Given the description of an element on the screen output the (x, y) to click on. 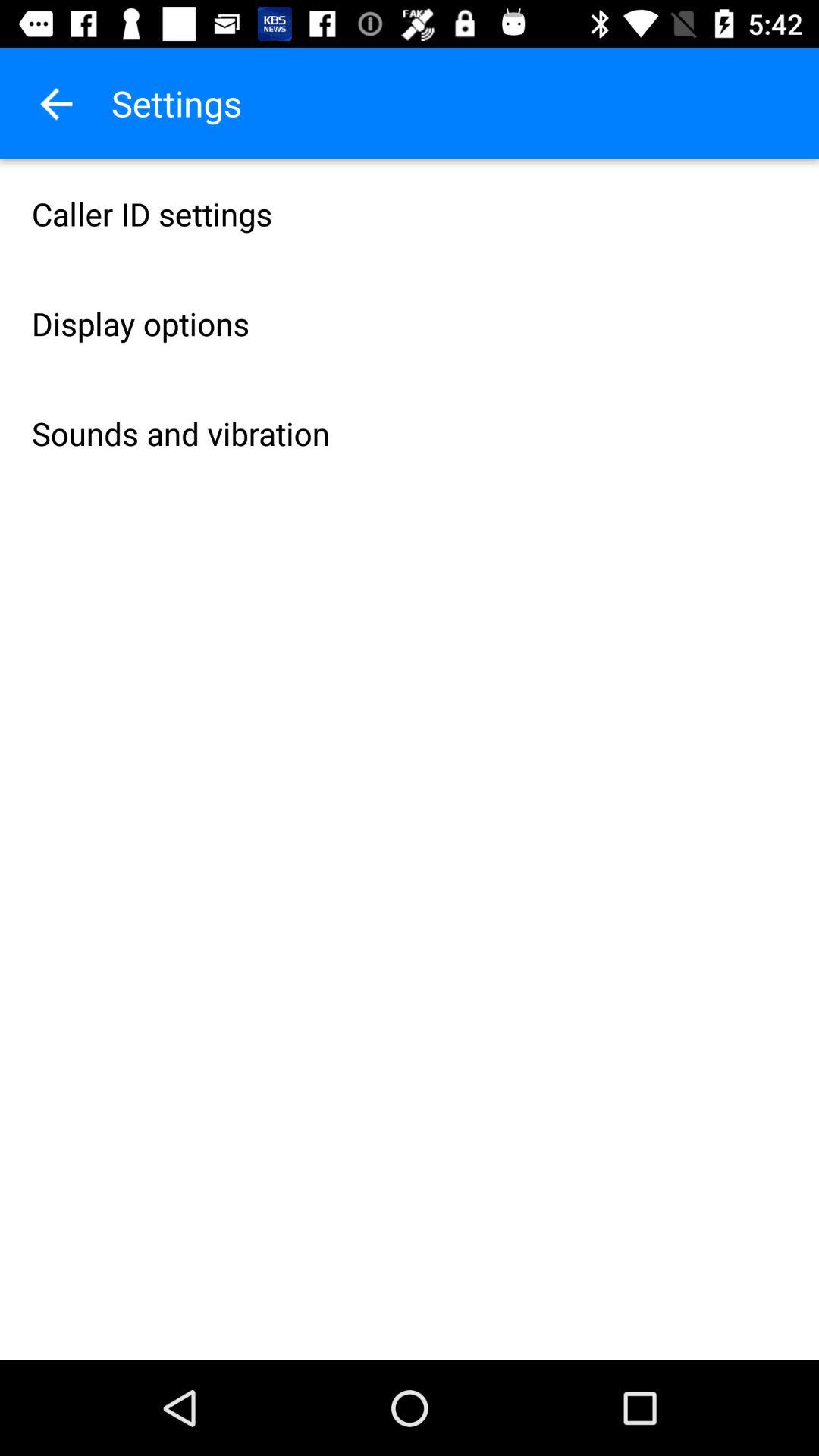
choose icon below the display options (409, 433)
